Given the description of an element on the screen output the (x, y) to click on. 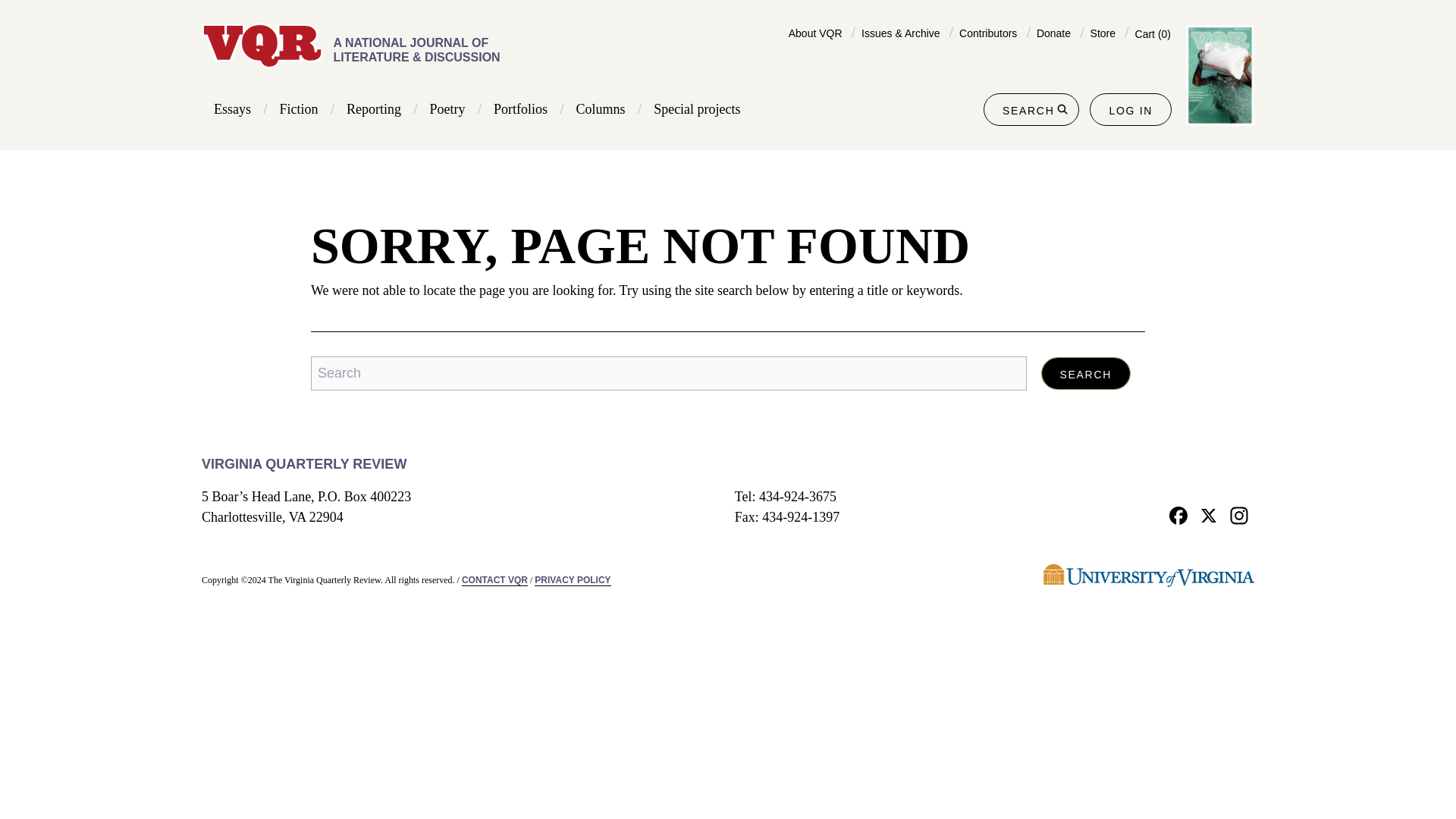
Contributors (987, 33)
SEARCH (1031, 109)
X (1208, 514)
Poetry (447, 109)
Search (1085, 373)
CONTACT VQR (494, 580)
Columns (601, 109)
Fiction (298, 109)
Facebook (1178, 514)
Store (1102, 33)
Special projects (696, 109)
Instagram (1238, 514)
Essays (232, 109)
PRIVACY POLICY (572, 580)
